Given the description of an element on the screen output the (x, y) to click on. 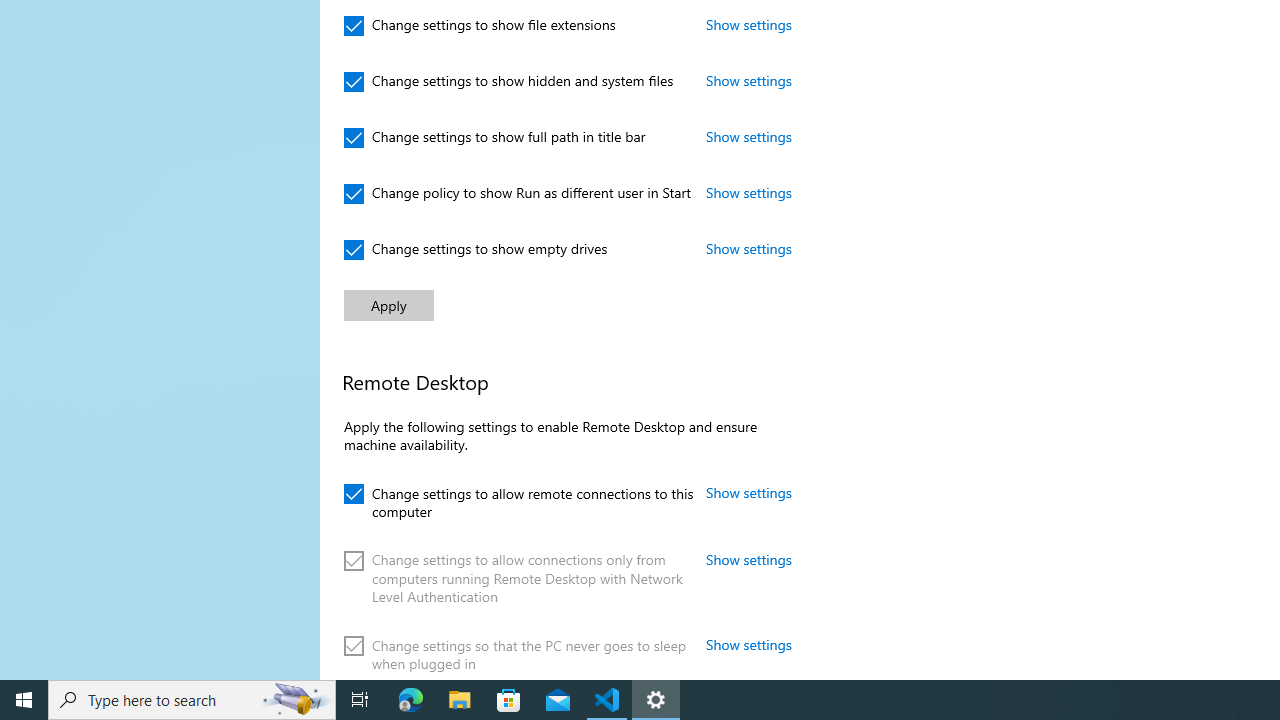
Change settings to show file extensions (479, 25)
Change settings to allow remote connections to this computer (518, 499)
Show settings: Change settings to show file extensions (749, 24)
Show settings: Change settings to show empty drives (749, 248)
Apply (388, 305)
